Given the description of an element on the screen output the (x, y) to click on. 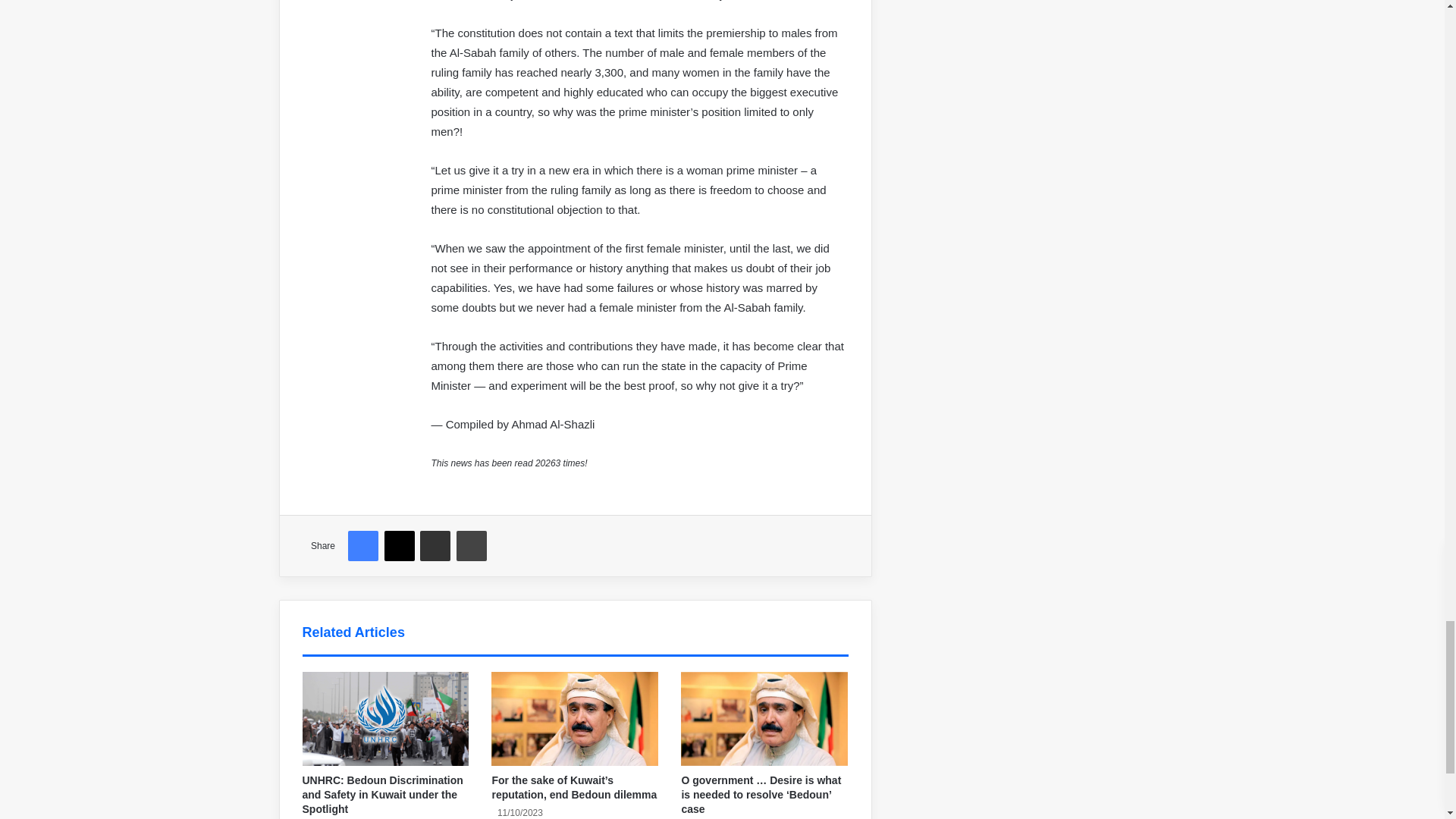
Facebook (362, 545)
Print (471, 545)
Share via Email (434, 545)
X (399, 545)
Facebook (362, 545)
